Given the description of an element on the screen output the (x, y) to click on. 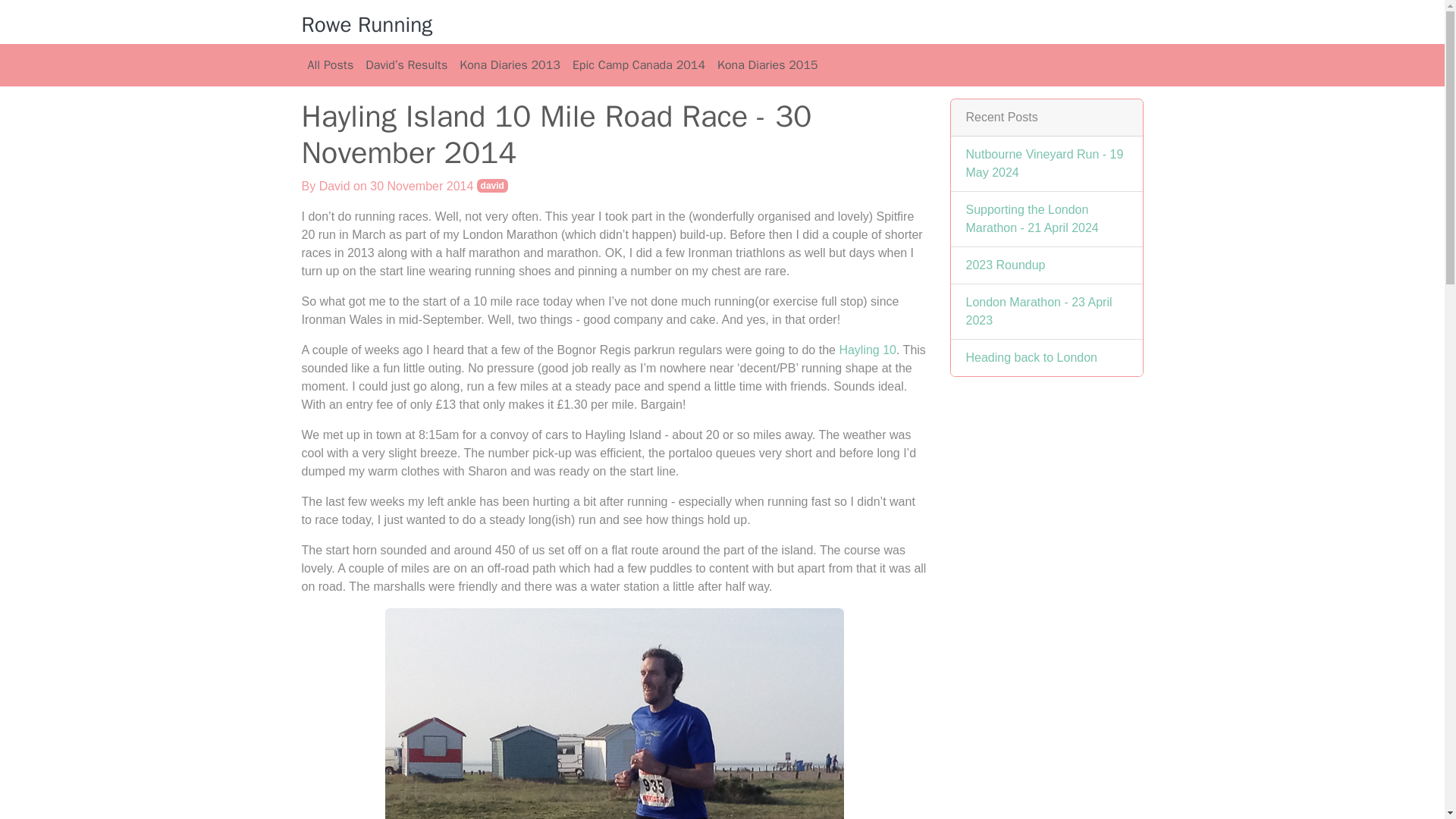
Kona Diaries 2015 (767, 64)
London Marathon - 23 April 2023 (1039, 310)
Hayling 10 (867, 349)
Kona Diaries 2013 (509, 64)
Epic Camp Canada 2014 (638, 64)
david (492, 185)
All Posts (330, 64)
Supporting the London Marathon - 21 April 2024 (1032, 218)
Heading back to London (1031, 357)
Rowe Running (366, 24)
2023 Roundup (1005, 264)
Nutbourne Vineyard Run - 19 May 2024 (1045, 163)
